Given the description of an element on the screen output the (x, y) to click on. 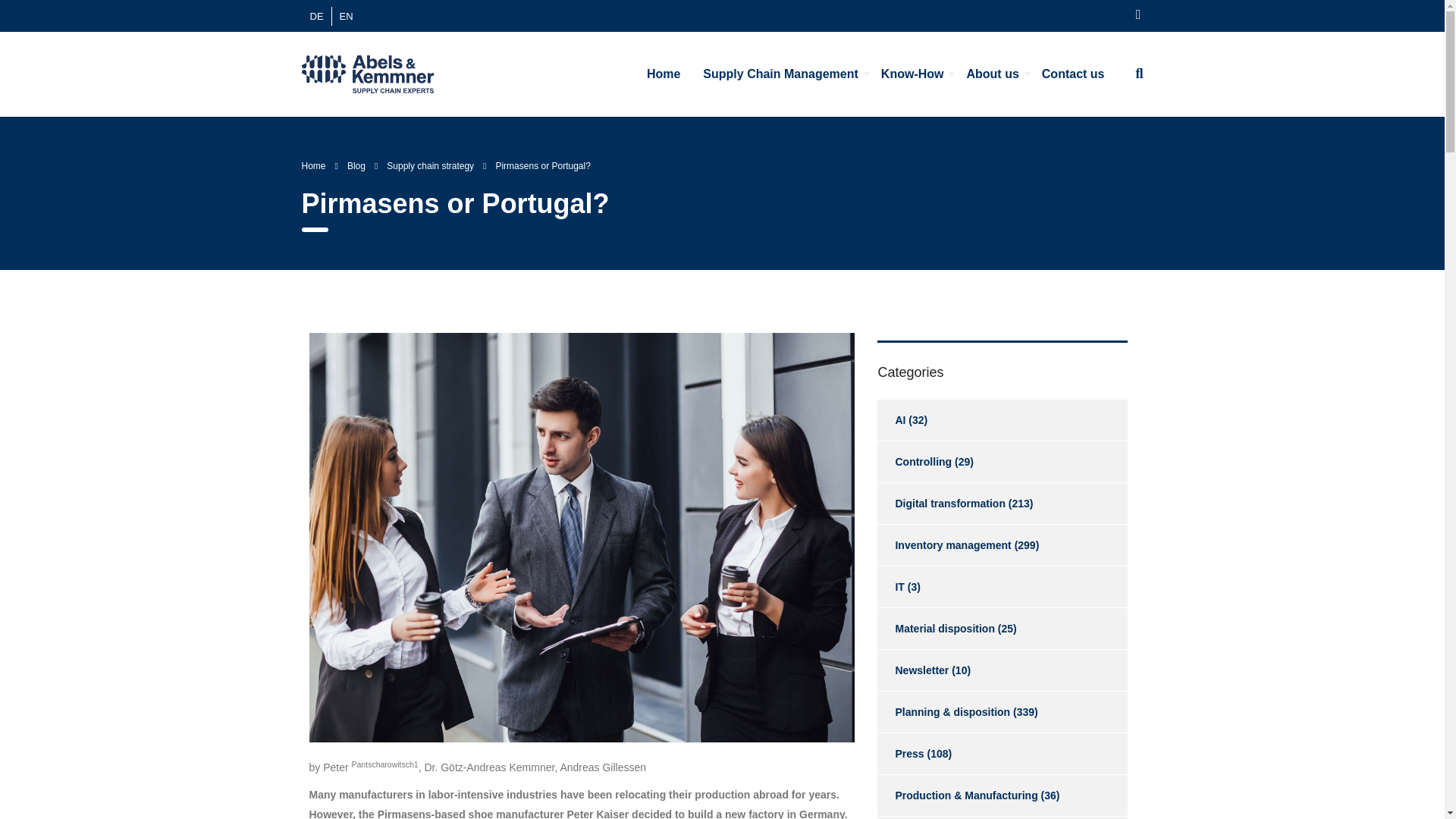
Home (662, 74)
Supply Chain Management (780, 74)
About us (992, 74)
EN (346, 15)
Go to the Supply chain strategy category archives. (430, 165)
Know-How (912, 74)
Go to Blog. (356, 165)
DE (315, 15)
